Given the description of an element on the screen output the (x, y) to click on. 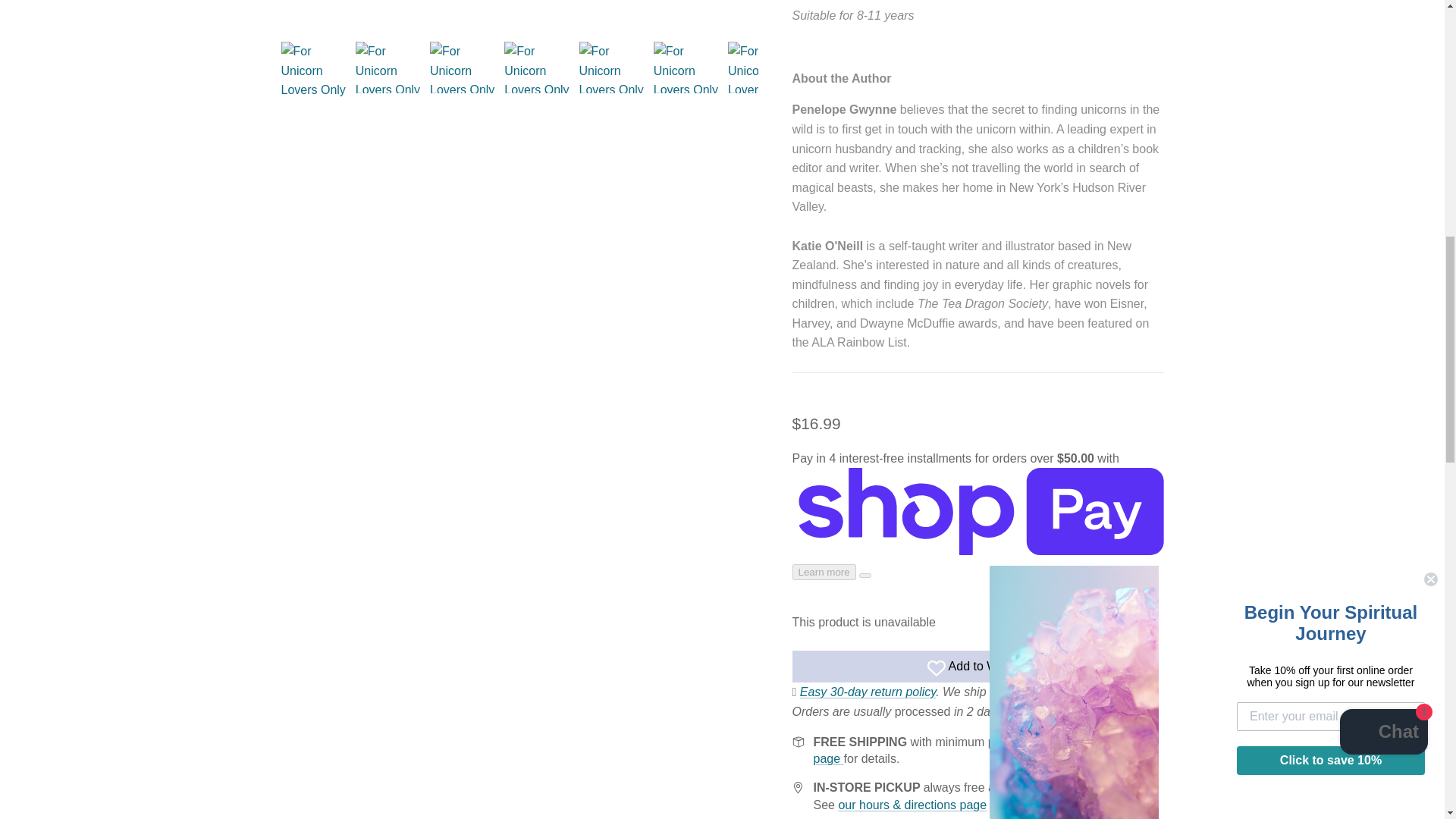
Shipping Policy (867, 691)
Our Shipping Policy (973, 749)
